Given the description of an element on the screen output the (x, y) to click on. 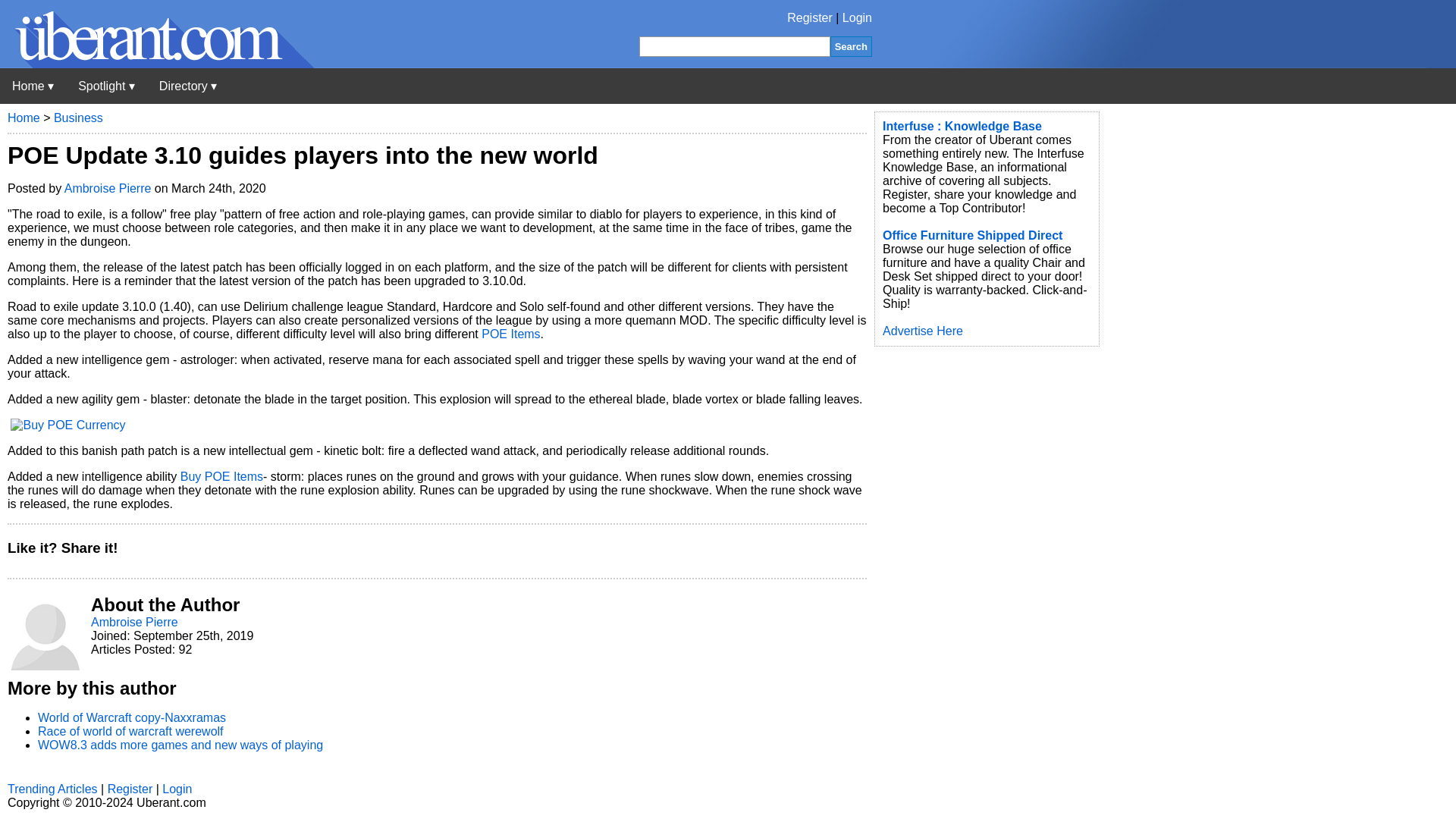
Uberant (32, 85)
Login (857, 17)
Search (850, 46)
Search (850, 46)
Uberant (157, 63)
Register (809, 17)
